Given the description of an element on the screen output the (x, y) to click on. 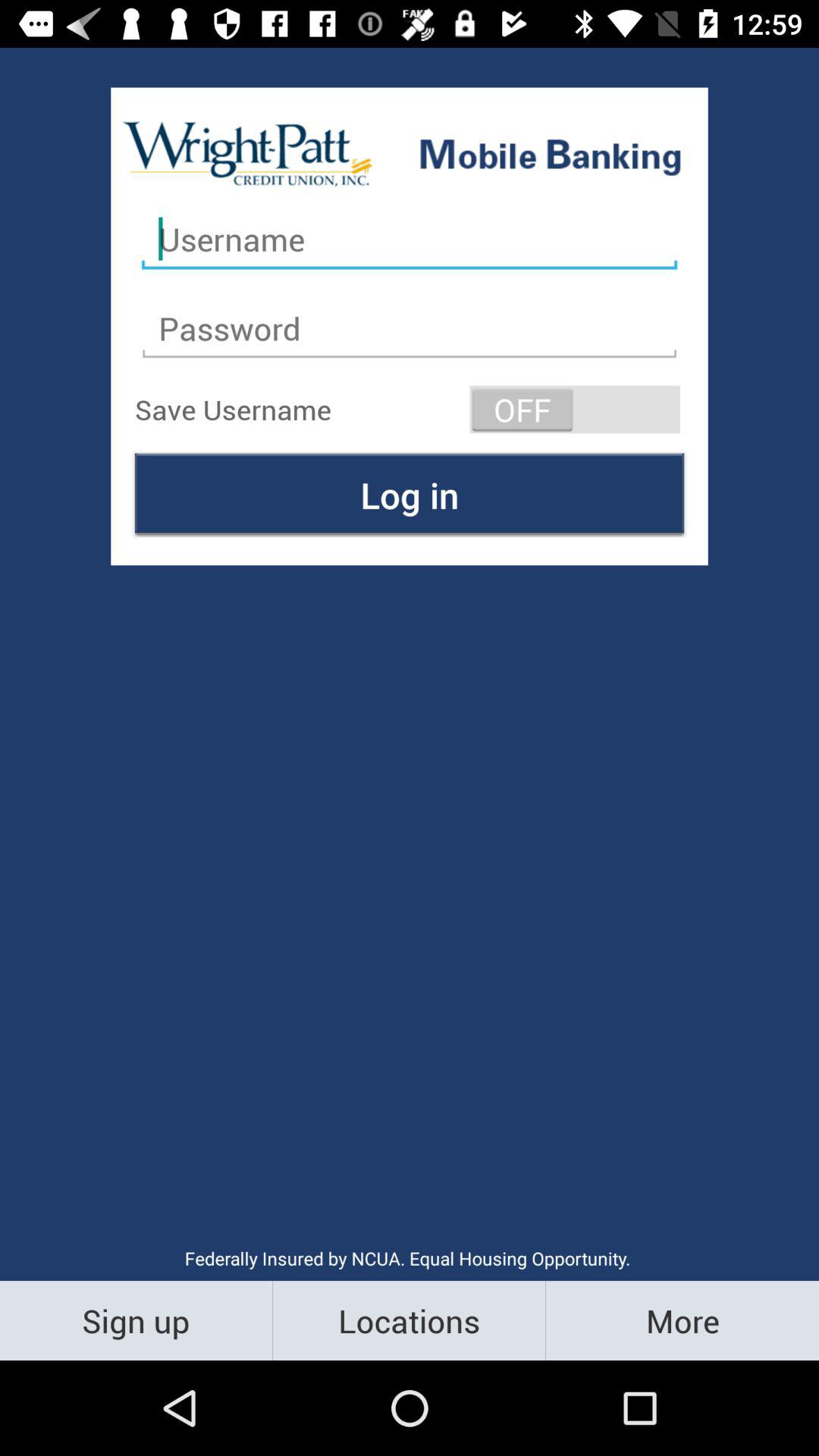
press item next to sign up item (409, 1320)
